Given the description of an element on the screen output the (x, y) to click on. 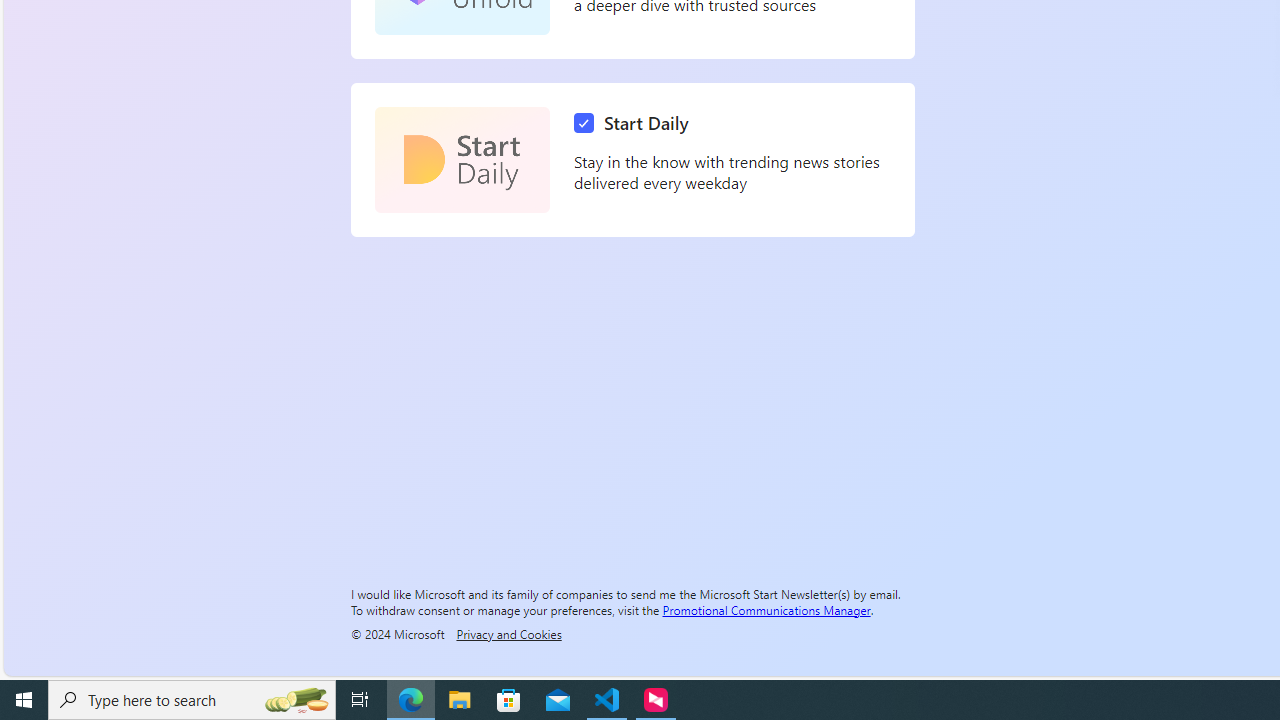
Start Daily (635, 123)
Privacy and Cookies (508, 633)
Start Daily (461, 160)
Promotional Communications Manager (765, 609)
